Given the description of an element on the screen output the (x, y) to click on. 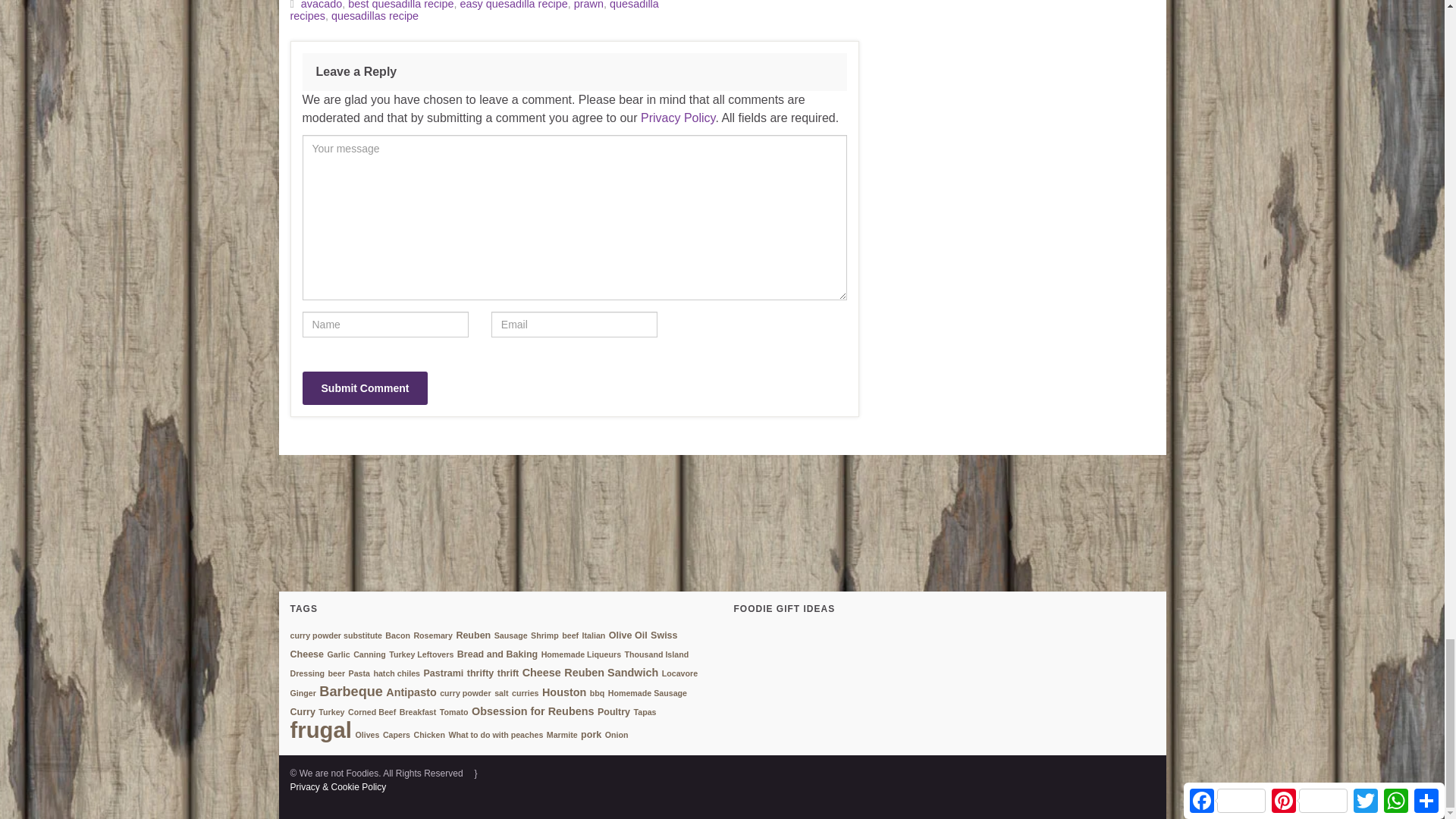
Submit Comment (364, 387)
